Given the description of an element on the screen output the (x, y) to click on. 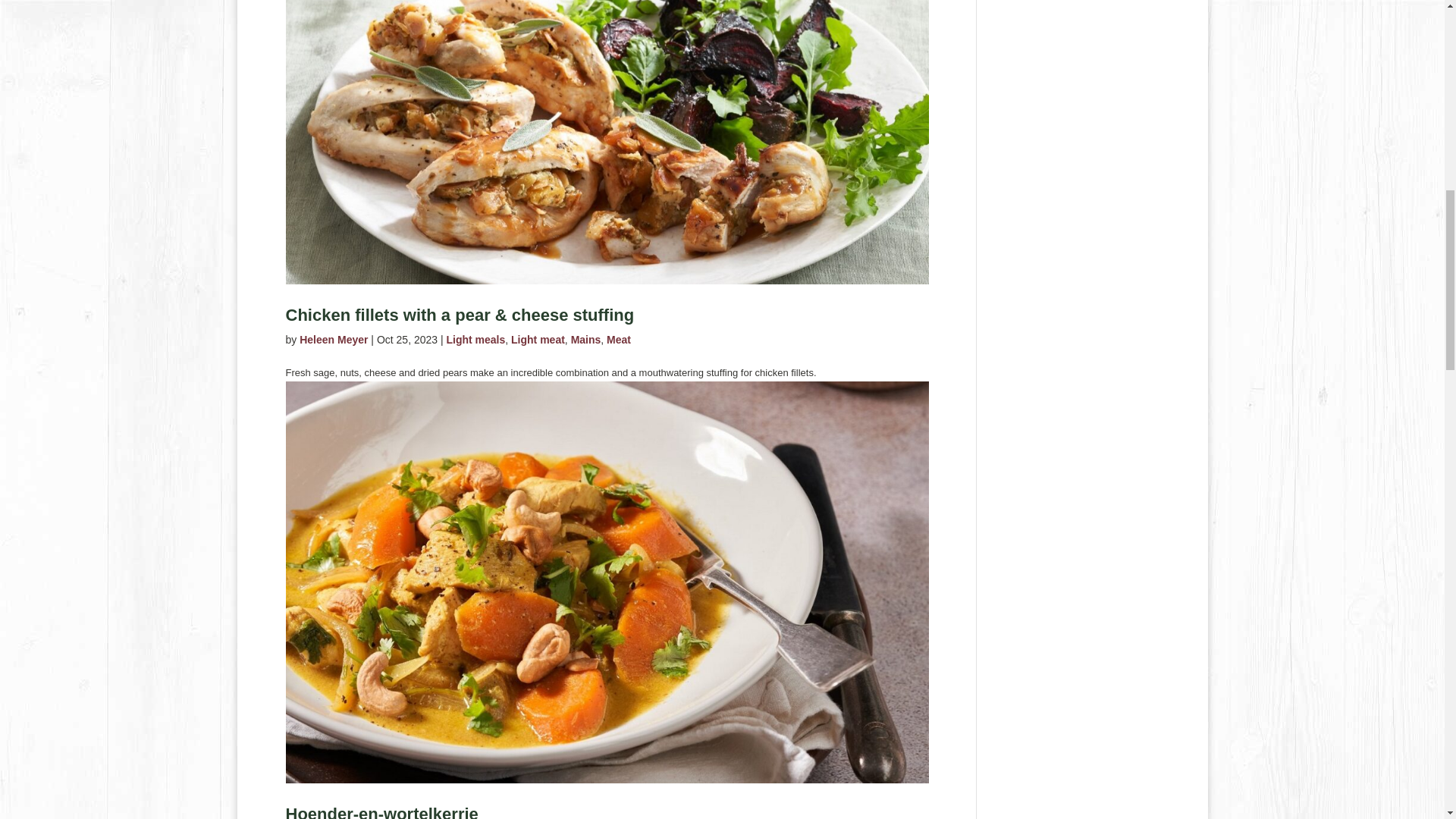
Hoender-en-wortelkerrie (381, 811)
Heleen Meyer (333, 339)
Light meals (475, 339)
Meat (618, 339)
Light meat (537, 339)
Posts by Heleen Meyer (333, 339)
Mains (585, 339)
